Given the description of an element on the screen output the (x, y) to click on. 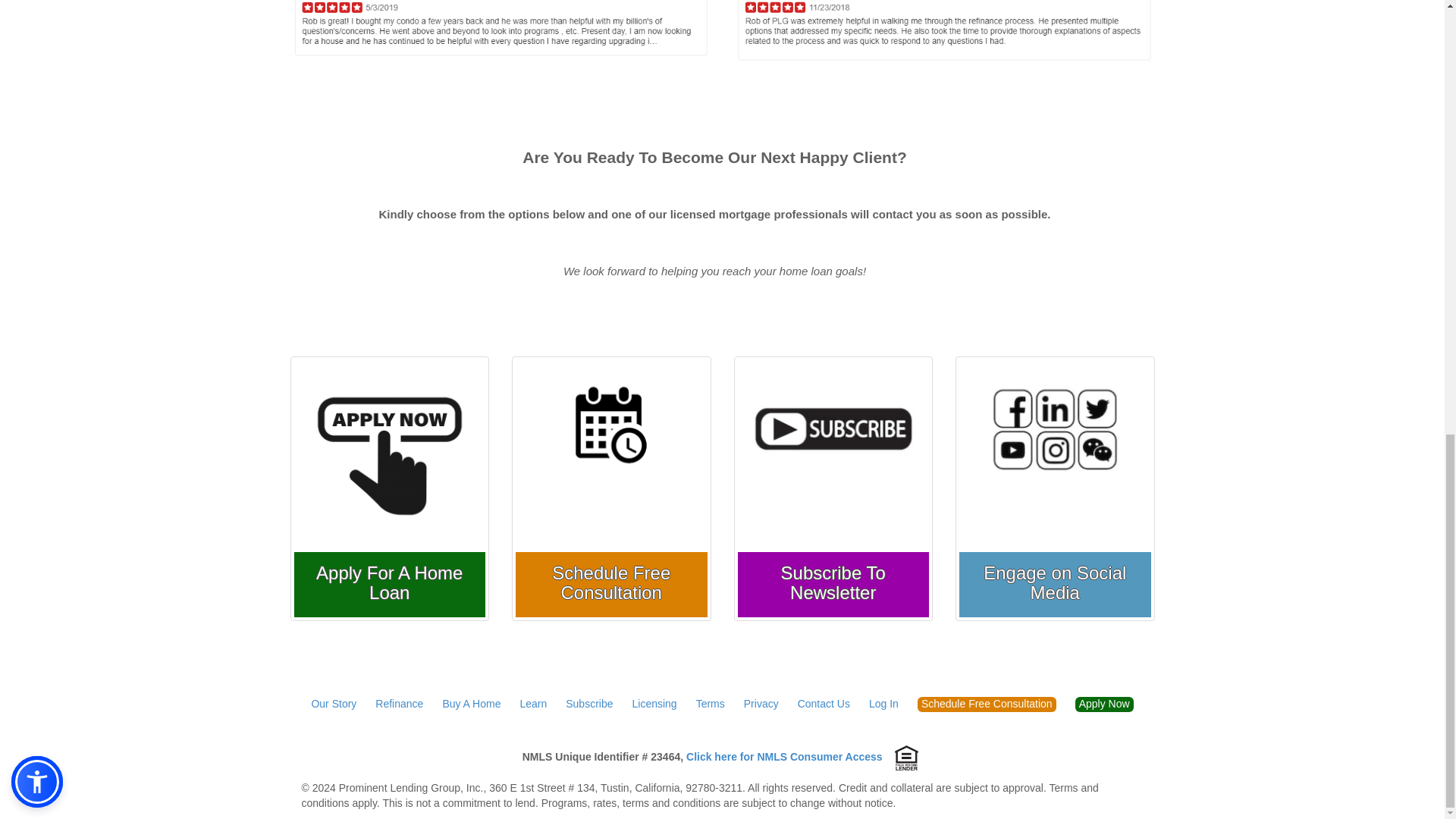
Equal Housing Lender (906, 757)
Click here to see Prominent Lending Group Privacy Policy (761, 703)
Click here to Contact Prominent Lending Group (823, 703)
Click here to read about Prominent Lending Group's Story (333, 703)
Click here to see Prominent Lending Group Licensing (654, 703)
Click here Login to Prominent Lending Group's web portal (883, 703)
Click here for NMLS Consumer Access (783, 757)
